Given the description of an element on the screen output the (x, y) to click on. 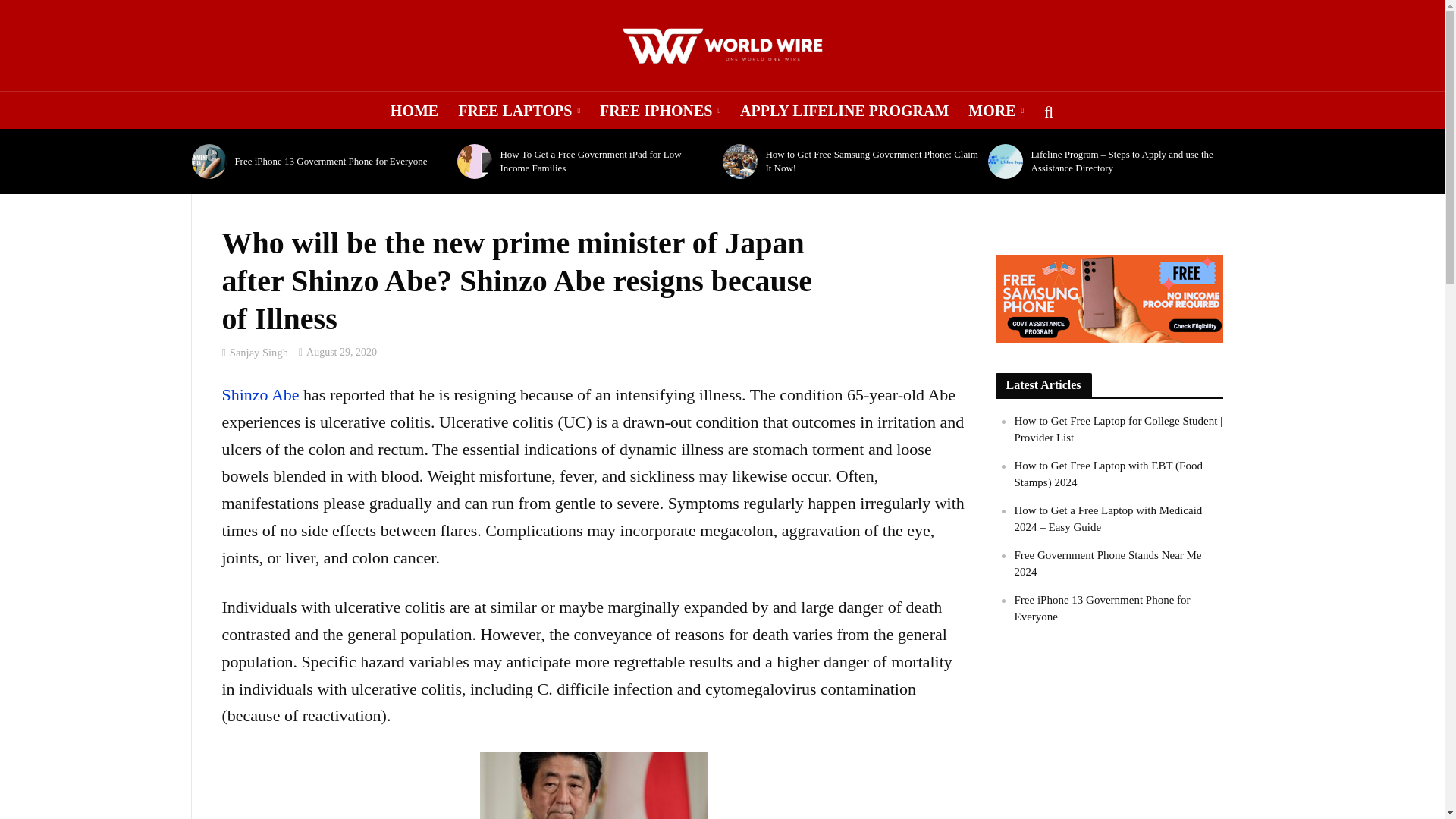
FREE IPHONES (659, 110)
MORE (995, 110)
HOME (414, 110)
How To Get a Free Government iPad for Low-Income Families (474, 161)
How to Get Free Samsung Government Phone: Claim It Now! (739, 161)
APPLY LIFELINE PROGRAM (844, 110)
FREE LAPTOPS (518, 110)
Free iPhone 13 Government Phone for Everyone (208, 161)
